Given the description of an element on the screen output the (x, y) to click on. 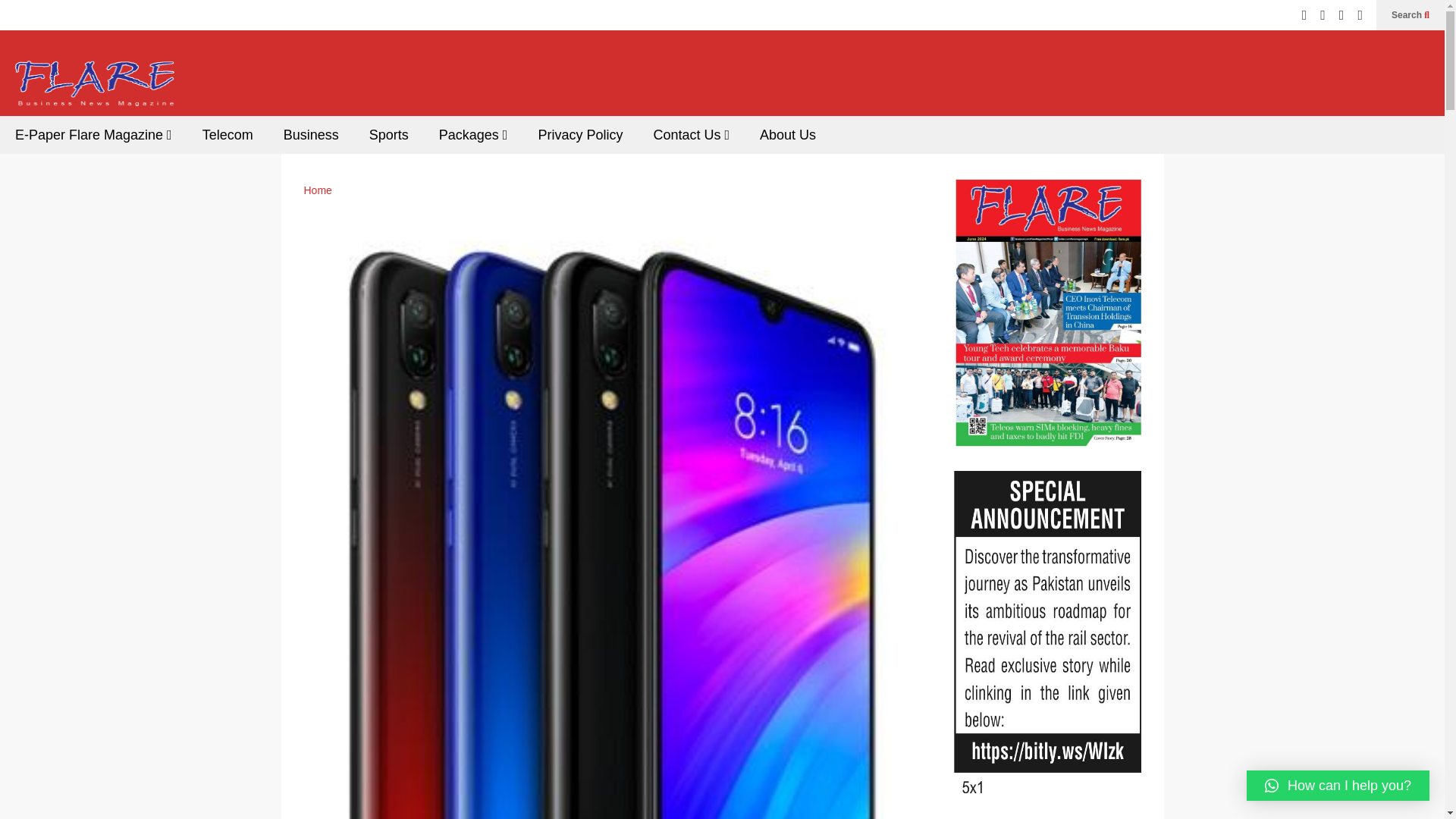
Linkedin (1359, 15)
Twitter (1304, 15)
E-Paper Flare Magazine (93, 134)
Instagram (1341, 15)
Technology and Business News from Pakistan (94, 88)
Facebook (1322, 15)
Search (1410, 15)
